Given the description of an element on the screen output the (x, y) to click on. 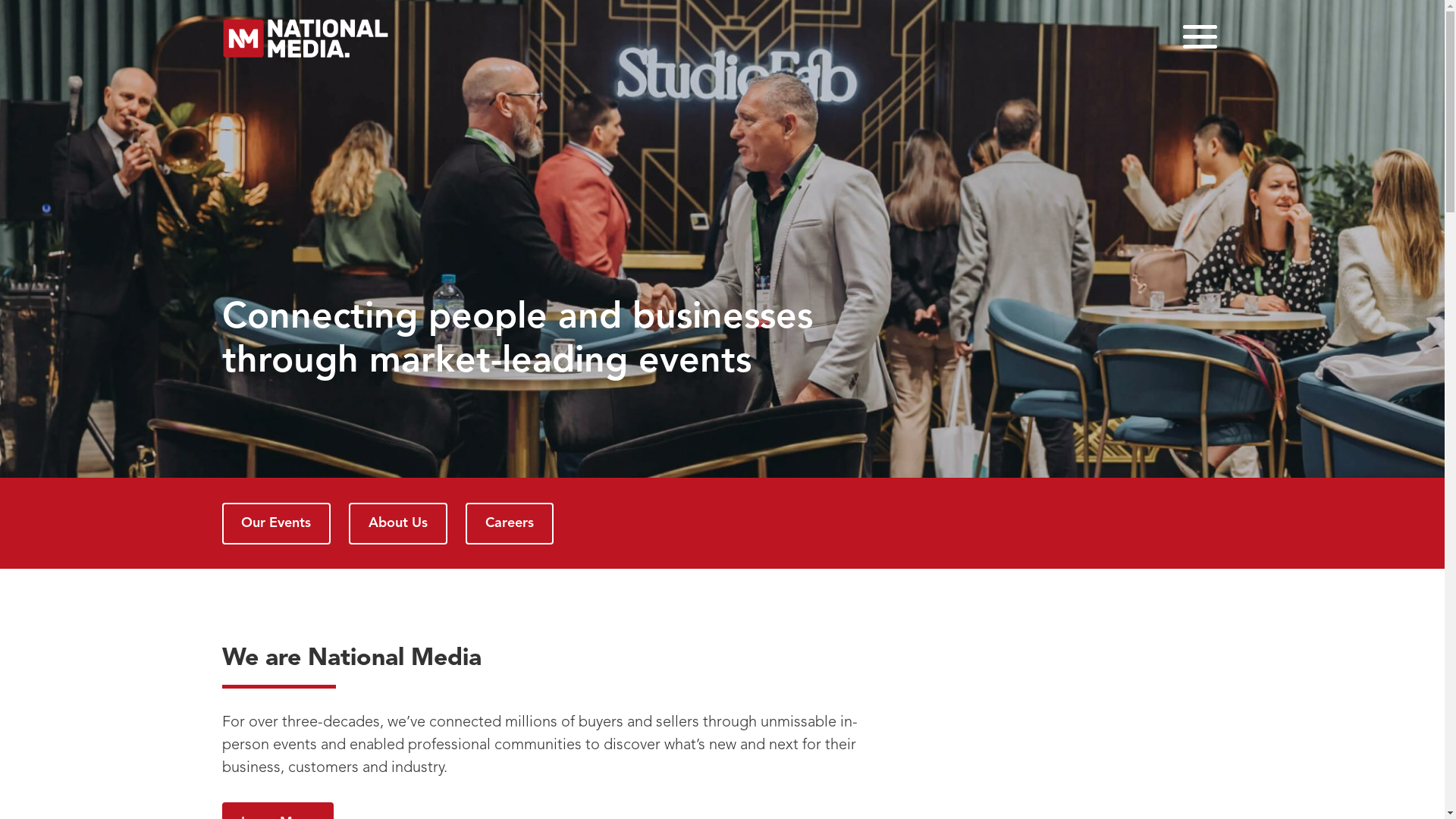
Our Events Element type: text (275, 522)
Careers Element type: text (509, 522)
About Us Element type: text (397, 522)
